Given the description of an element on the screen output the (x, y) to click on. 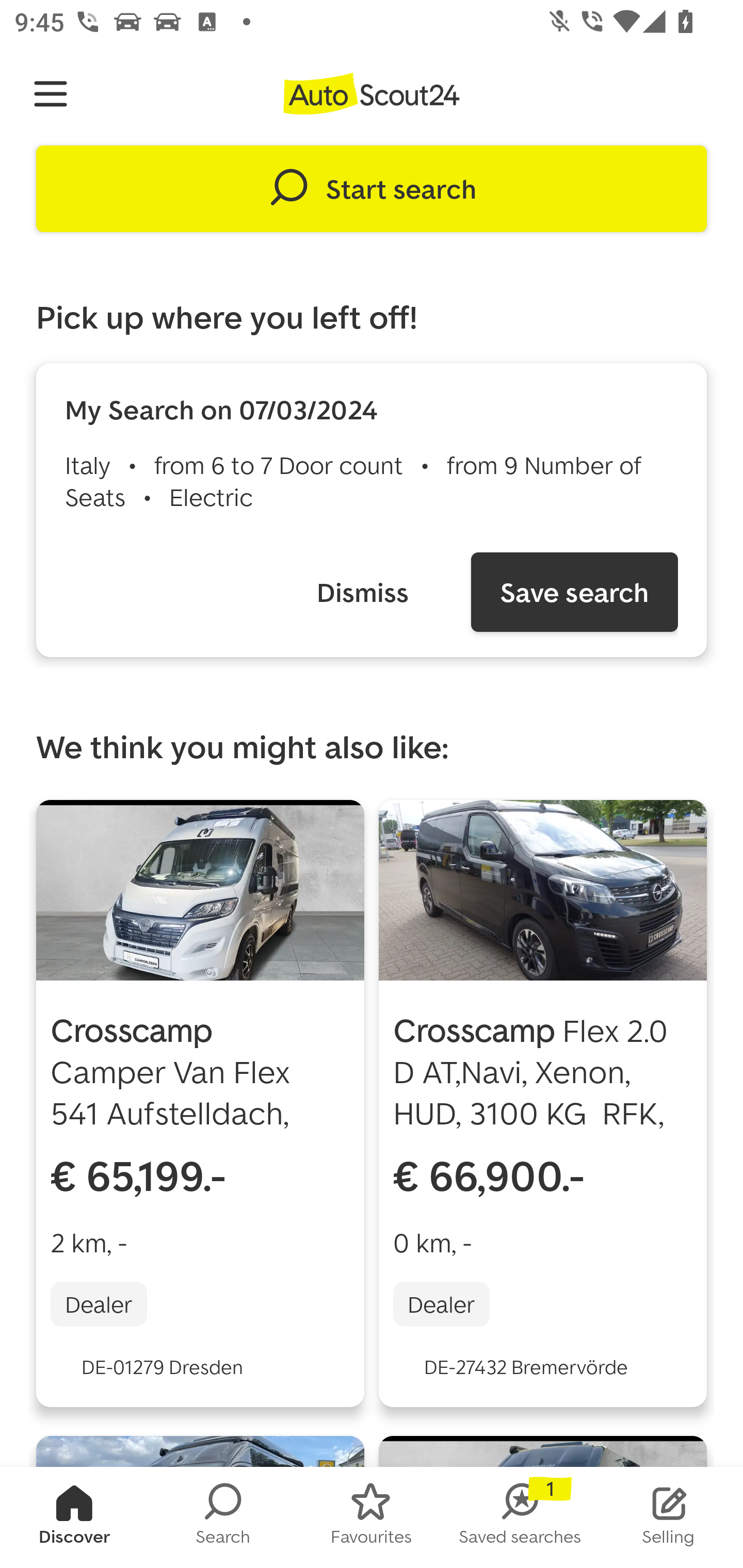
Navigate up (50, 93)
Start search (371, 188)
Dismiss (362, 591)
Save search (574, 591)
HOMESCREEN Discover (74, 1517)
SEARCH Search (222, 1517)
FAVORITES Favourites (371, 1517)
SAVED_SEARCHES Saved searches 1 (519, 1517)
STOCK_LIST Selling (668, 1517)
